Given the description of an element on the screen output the (x, y) to click on. 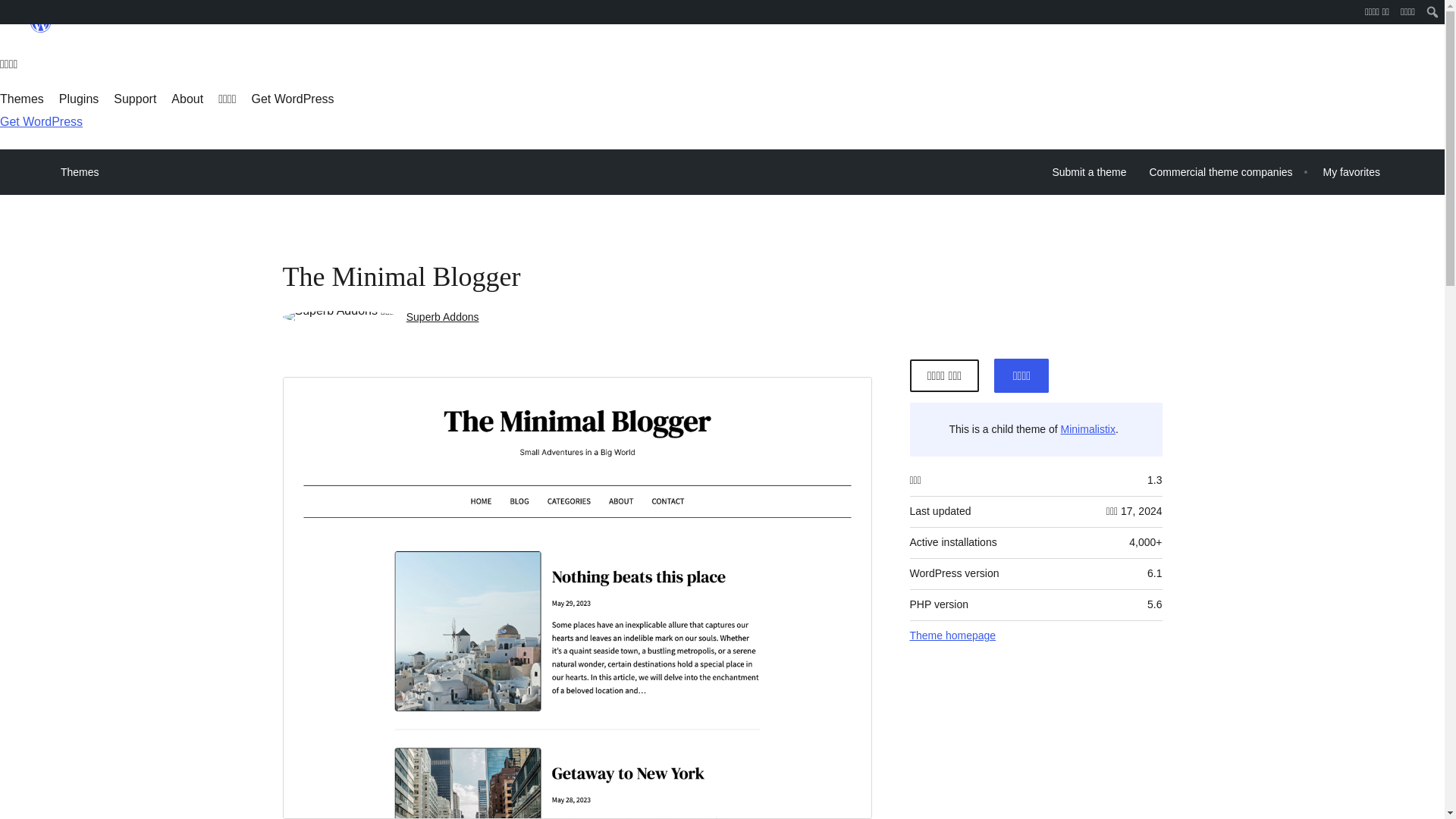
Get WordPress (292, 98)
Commercial theme companies (1219, 171)
Themes (79, 171)
Plugins (79, 98)
Superb Addons (442, 316)
Themes (21, 98)
Submit a theme (1088, 171)
My favorites (1351, 171)
WordPress.org (40, 22)
Support (134, 98)
